Given the description of an element on the screen output the (x, y) to click on. 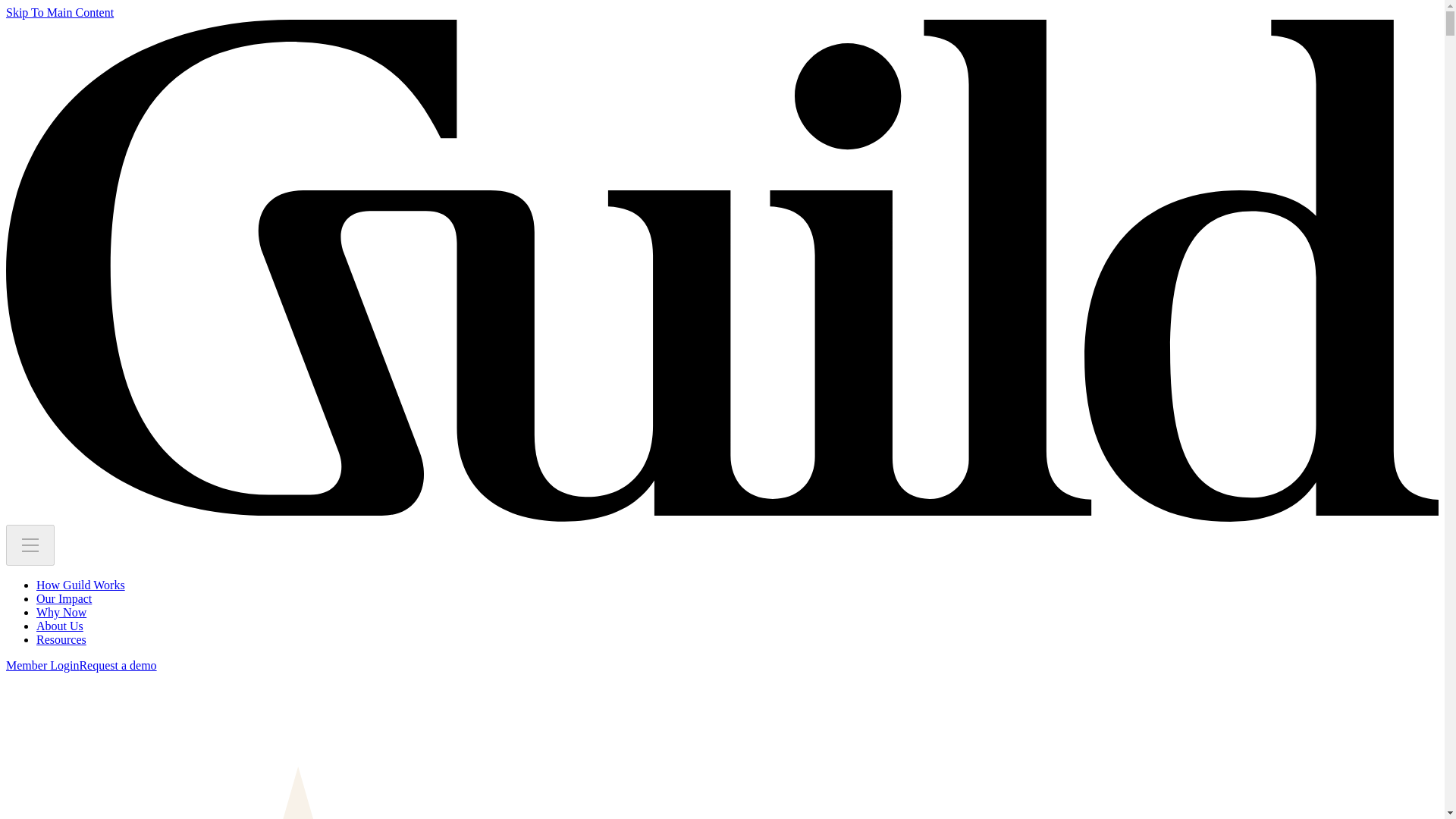
Why Now (60, 612)
About Us (59, 625)
Our Impact (63, 598)
Resources (60, 639)
Skip To Main Content (59, 11)
Member Login (41, 665)
Request a demo (116, 665)
How Guild Works (80, 584)
